Given the description of an element on the screen output the (x, y) to click on. 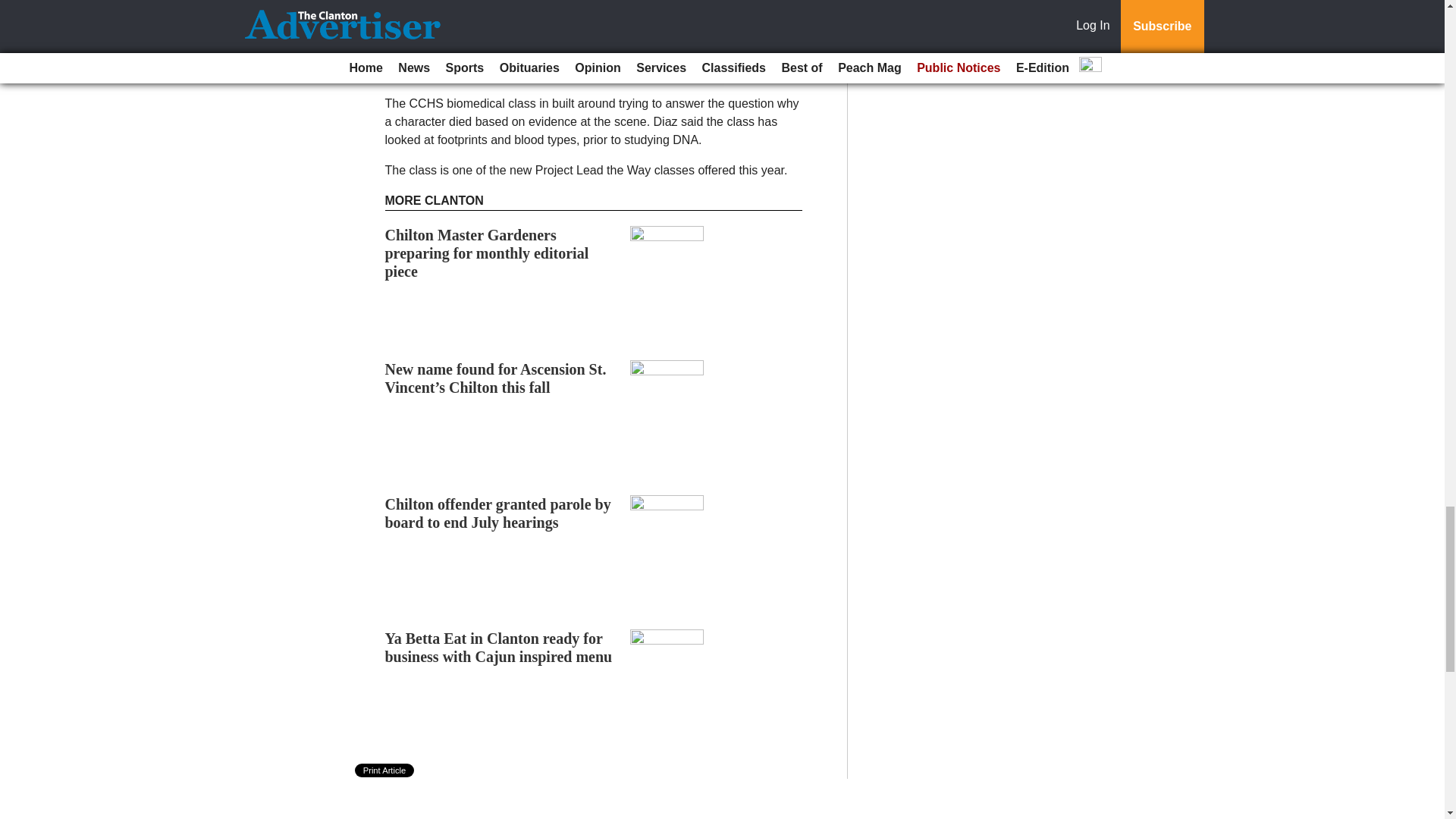
Print Article (384, 770)
